Given the description of an element on the screen output the (x, y) to click on. 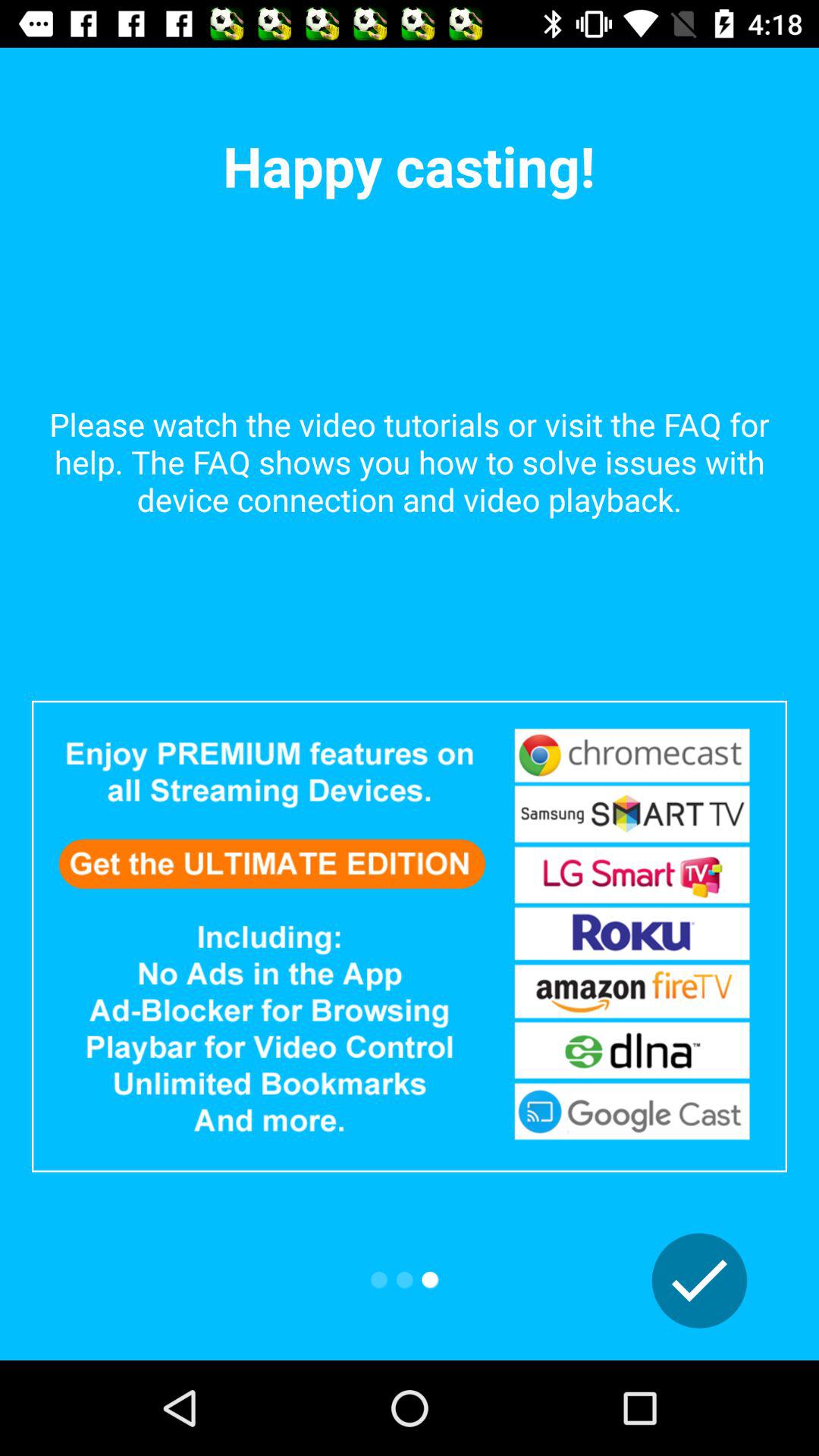
confirm option (699, 1280)
